Given the description of an element on the screen output the (x, y) to click on. 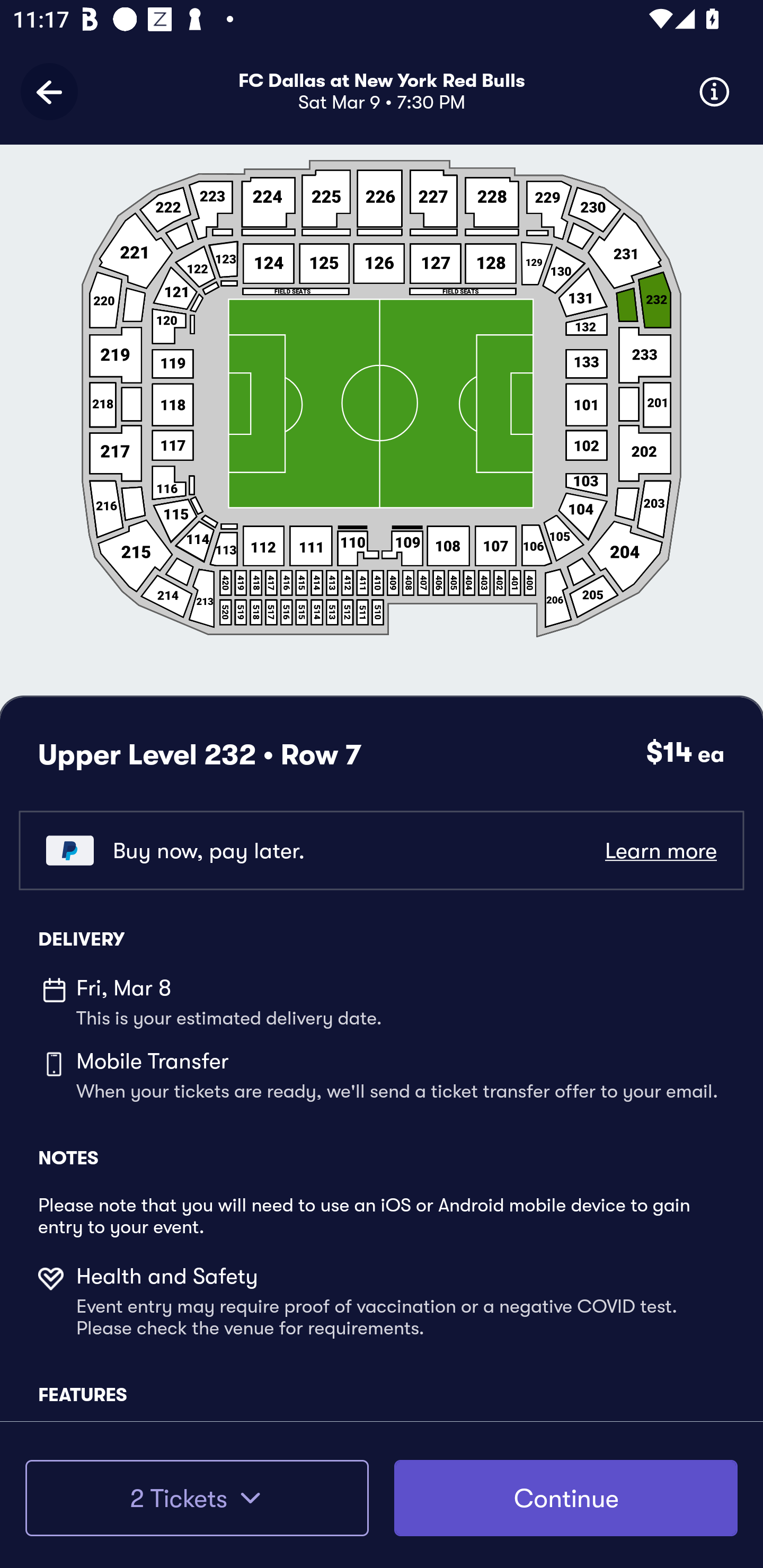
Learn more (660, 850)
2 Tickets (196, 1497)
Continue (565, 1497)
